Given the description of an element on the screen output the (x, y) to click on. 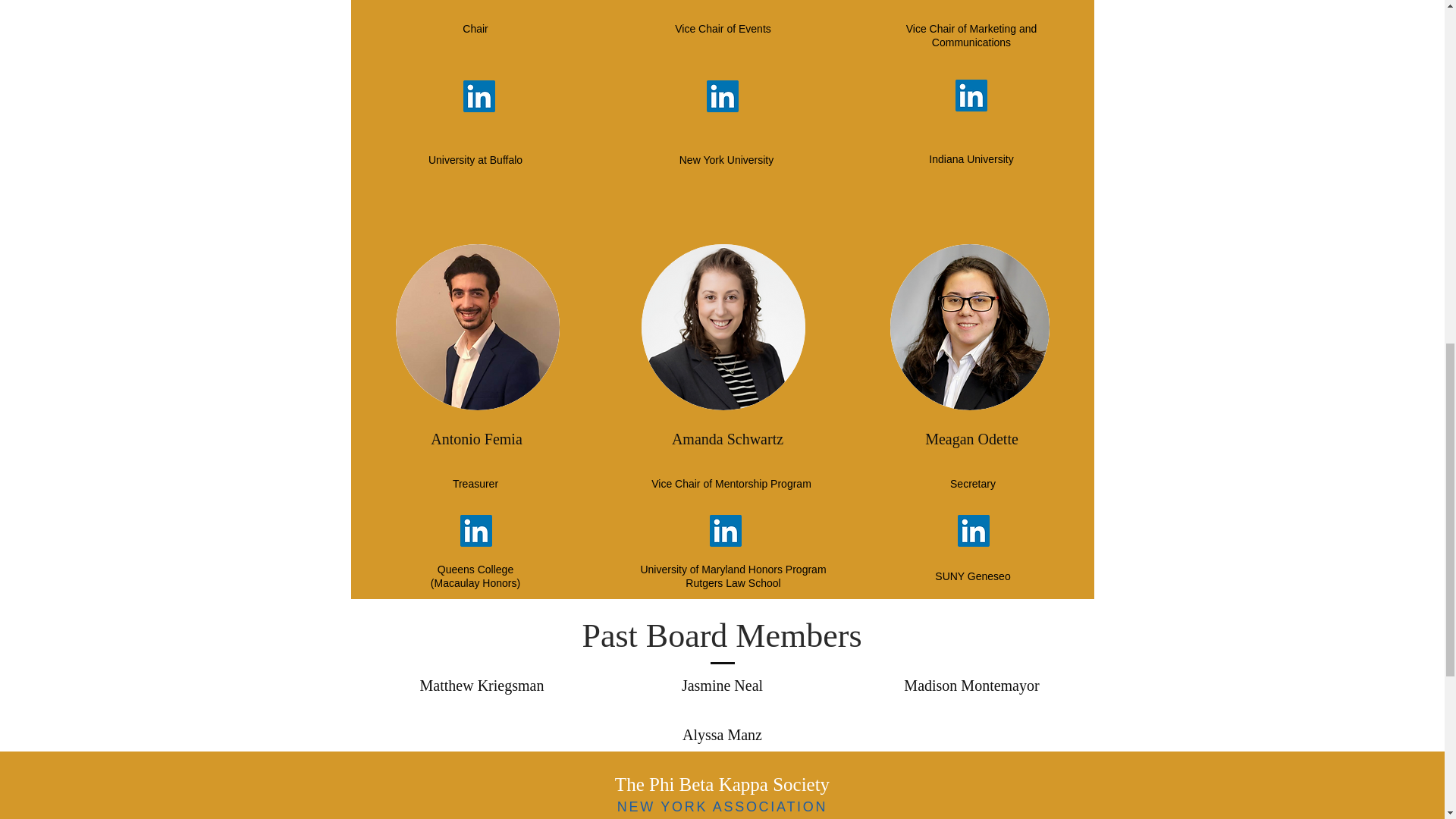
guy4.jpg (723, 327)
guy3.jpg (969, 327)
guy2.jpg (477, 327)
